Given the description of an element on the screen output the (x, y) to click on. 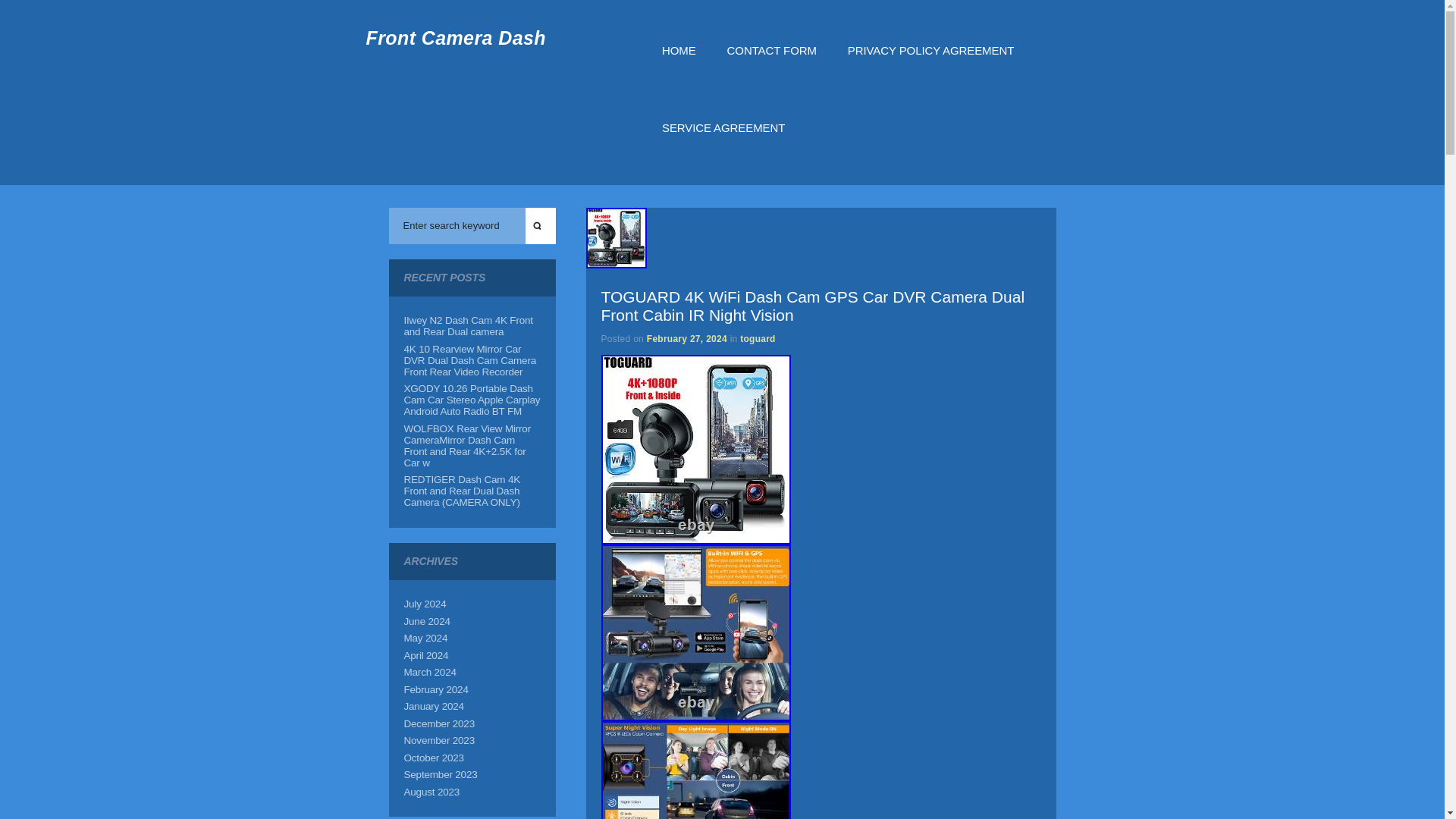
Enter search keyword (456, 226)
September 2023 (440, 774)
May 2024 (424, 637)
PRIVACY POLICY AGREEMENT (930, 68)
October 2023 (433, 757)
February 2024 (435, 689)
IIwey N2 Dash Cam 4K Front and Rear Dual camera (467, 325)
January 2024 (433, 706)
June 2024 (426, 621)
April 2024 (425, 654)
March 2024 (429, 672)
SERVICE AGREEMENT (722, 146)
